Given the description of an element on the screen output the (x, y) to click on. 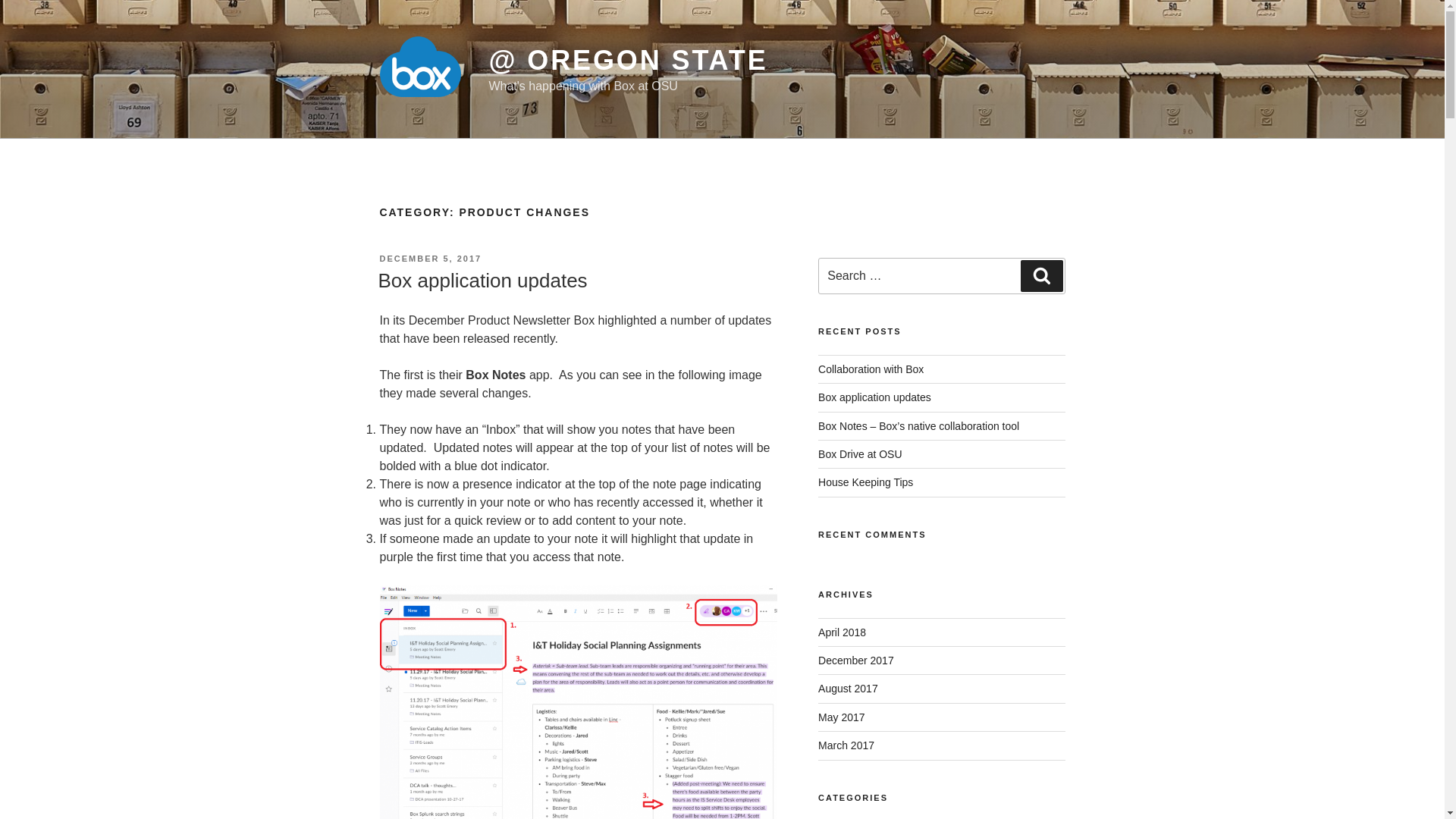
Box application updates (874, 397)
Search (1041, 275)
DECEMBER 5, 2017 (429, 257)
House Keeping Tips (865, 481)
December 2017 (855, 660)
April 2018 (842, 632)
August 2017 (847, 688)
Collaboration with Box (870, 369)
Box Drive at OSU (859, 453)
May 2017 (841, 717)
